Given the description of an element on the screen output the (x, y) to click on. 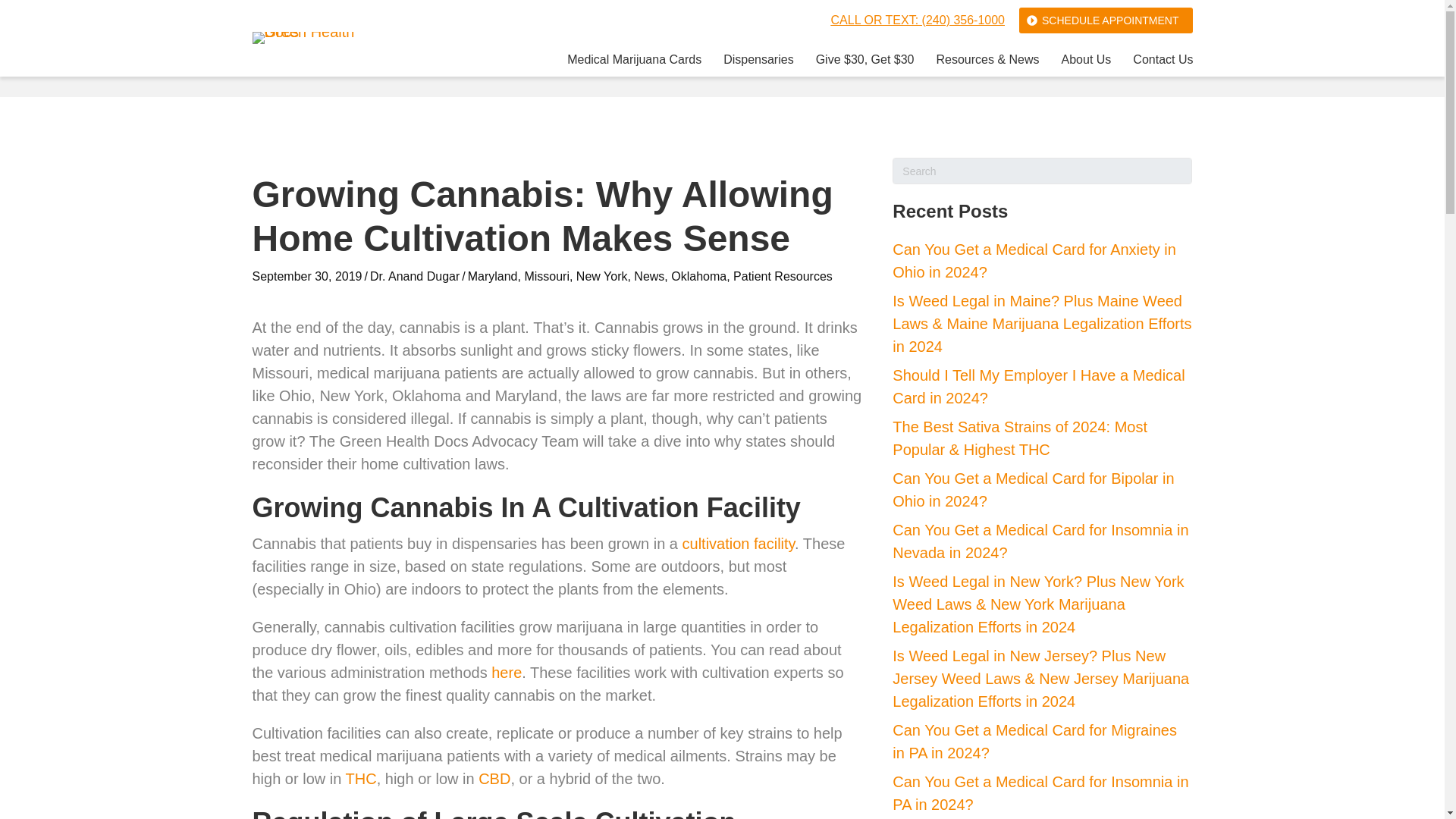
cultivation facility (738, 543)
THC (361, 778)
Patient Resources (782, 276)
About Us (1086, 62)
Oklahoma (698, 276)
Type and press Enter to search. (1042, 171)
here (506, 672)
Maryland (492, 276)
Medical Marijuana Cards (634, 62)
Missouri (546, 276)
CBD (495, 778)
SCHEDULE APPOINTMENT (1105, 20)
New York (601, 276)
Contact Us (1162, 62)
Dr. Anand Dugar (414, 276)
